Given the description of an element on the screen output the (x, y) to click on. 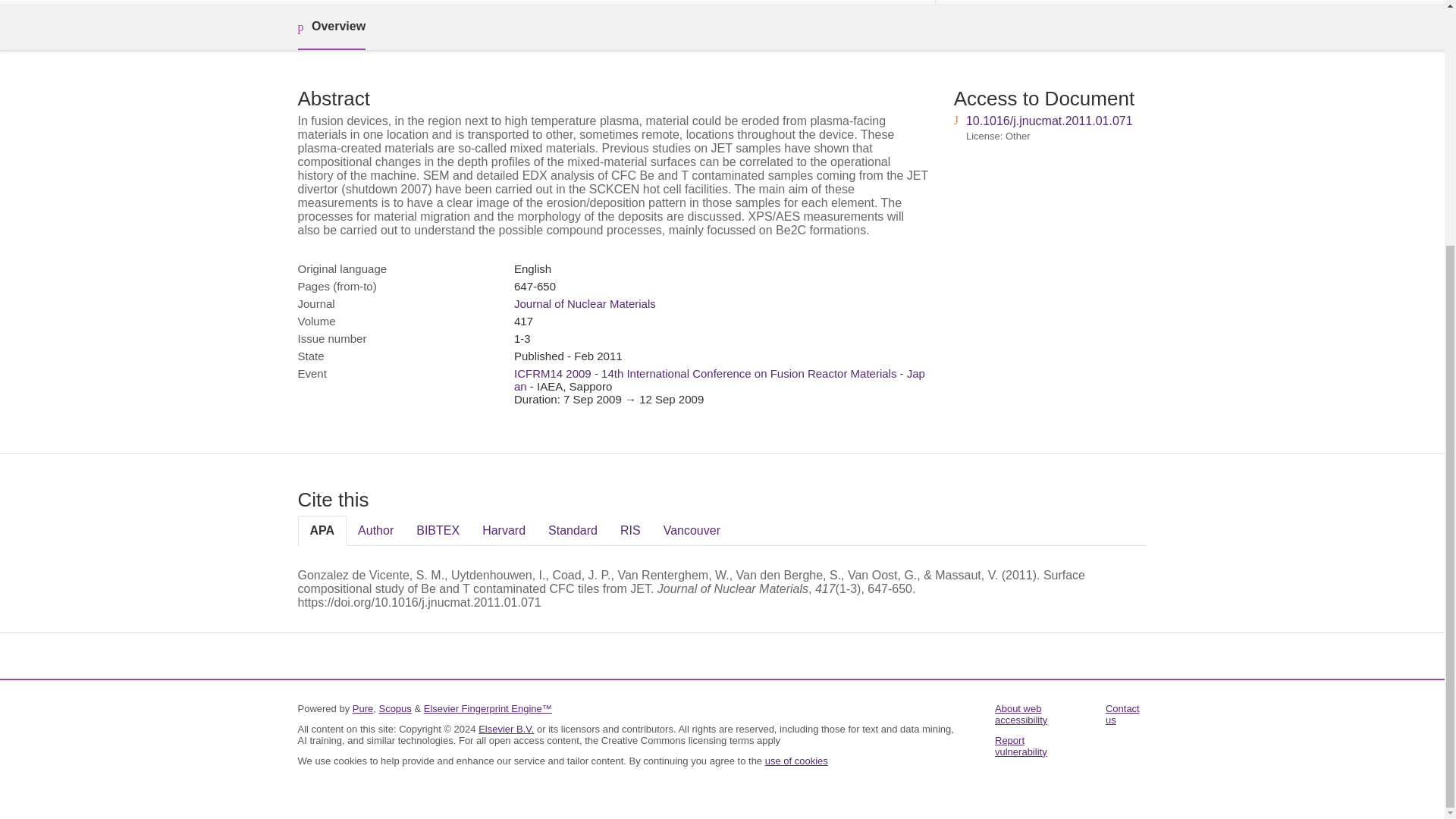
Overview (331, 26)
Report vulnerability (1020, 745)
Contact us (1122, 713)
Elsevier B.V. (506, 728)
use of cookies (796, 760)
About web accessibility (1020, 713)
Pure (362, 708)
Scopus (394, 708)
Journal of Nuclear Materials (584, 303)
